Given the description of an element on the screen output the (x, y) to click on. 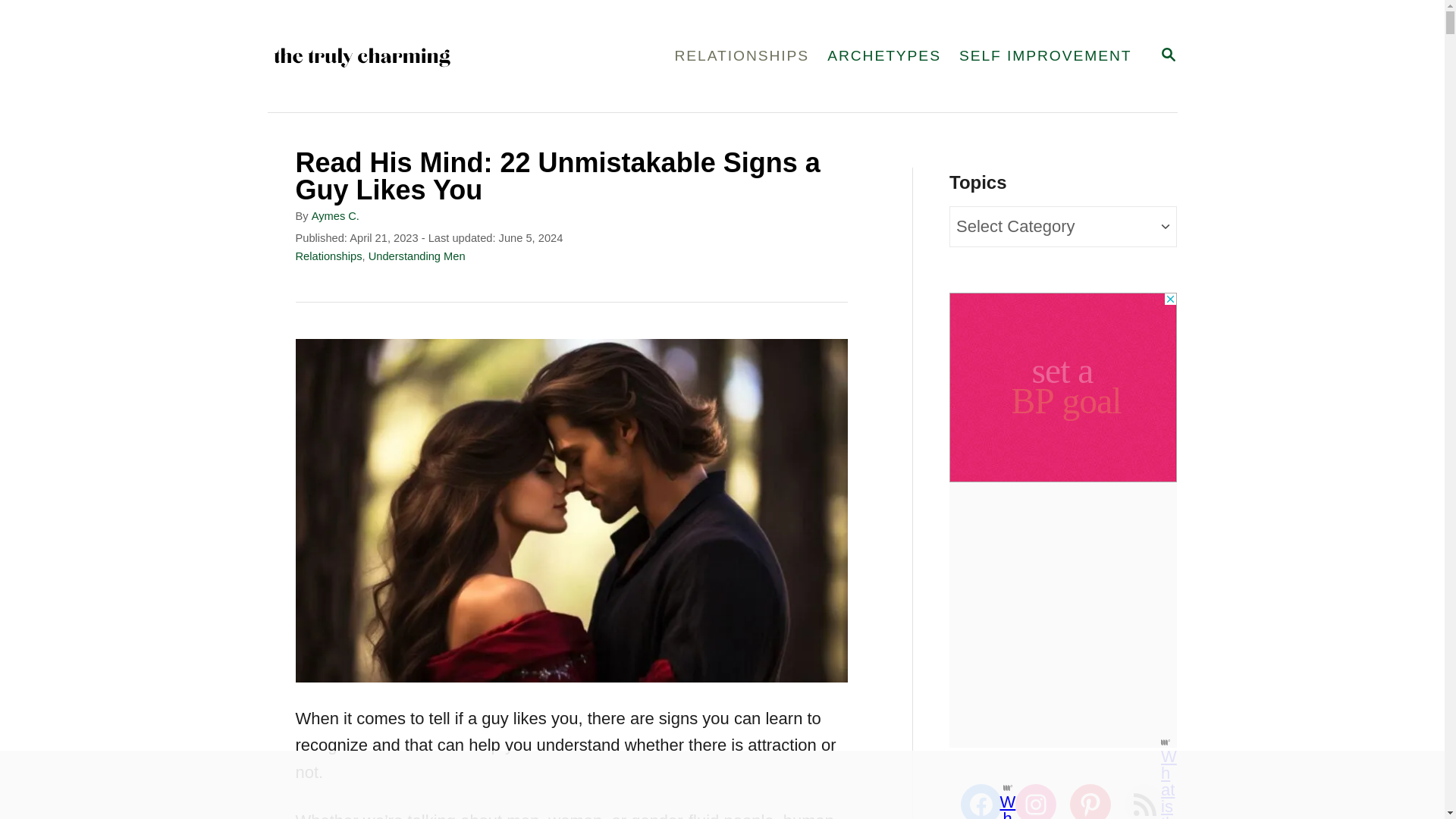
Relationships (328, 256)
SELF IMPROVEMENT (1168, 56)
The Truly Charming (1045, 55)
Aymes C. (422, 56)
3rd party ad content (335, 215)
MAGNIFYING GLASS (1062, 387)
RELATIONSHIPS (1167, 54)
Understanding Men (741, 55)
3rd party ad content (416, 256)
ARCHETYPES (708, 785)
